Given the description of an element on the screen output the (x, y) to click on. 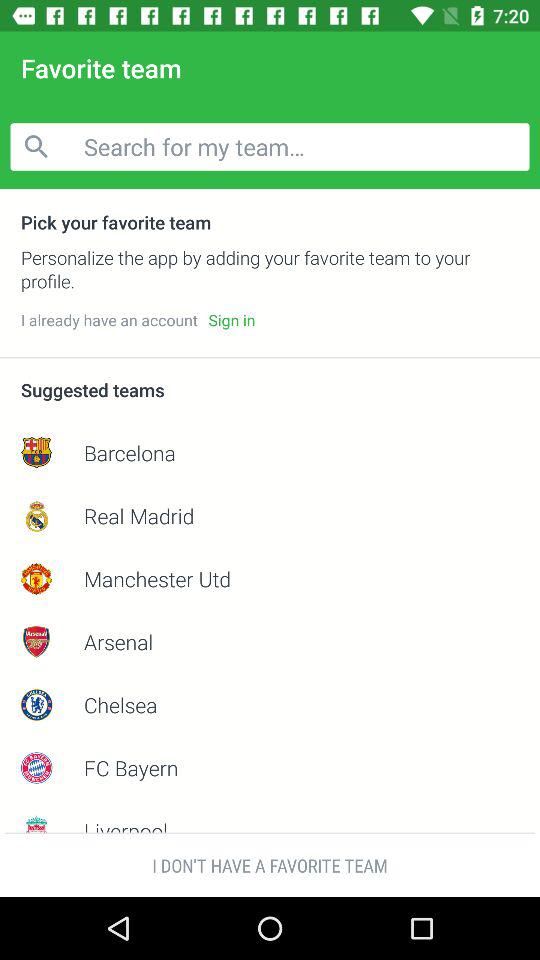
select the icon below favorite team item (269, 146)
